Given the description of an element on the screen output the (x, y) to click on. 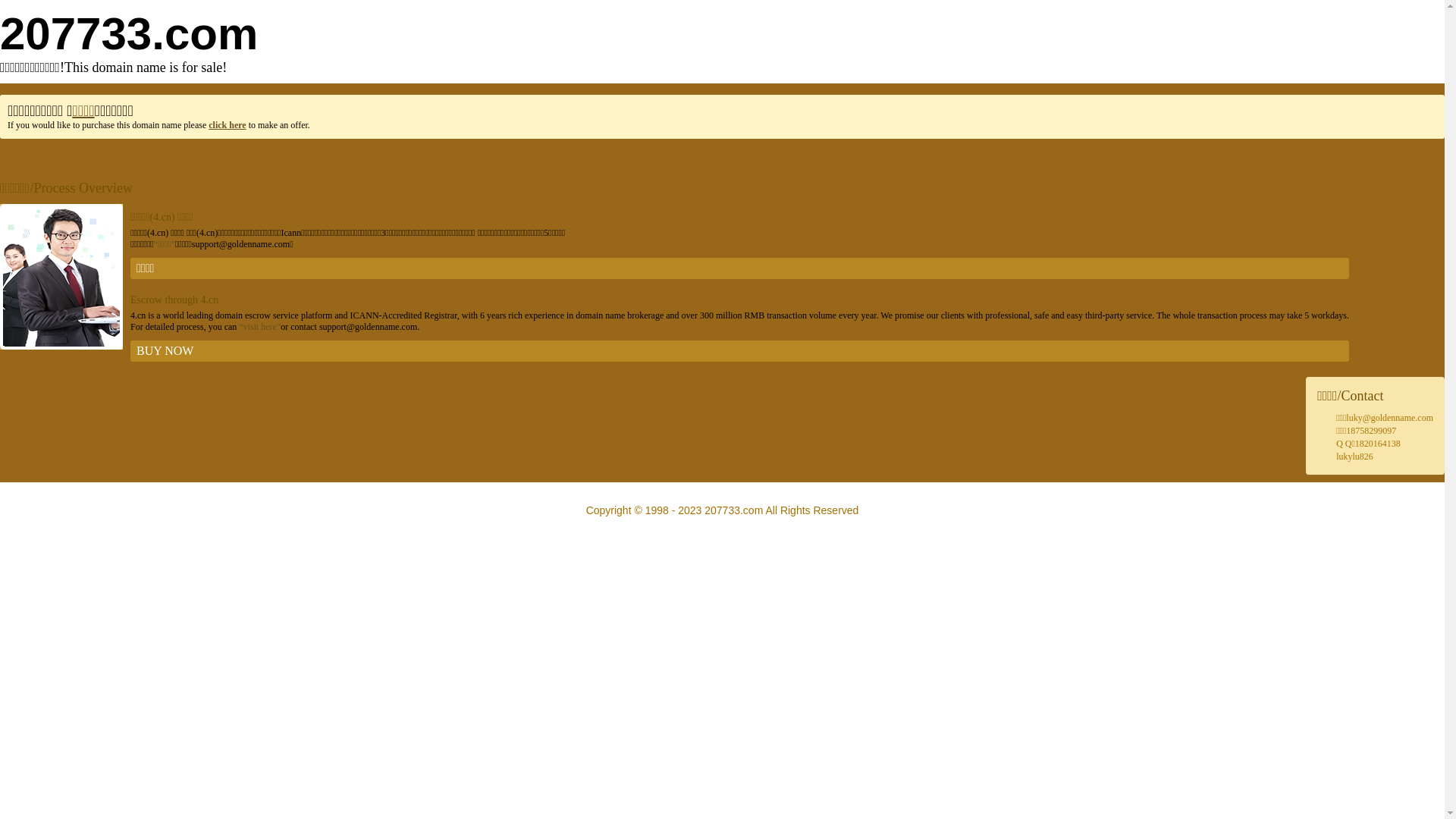
BUY NOW Element type: text (739, 350)
click here Element type: text (226, 124)
